Given the description of an element on the screen output the (x, y) to click on. 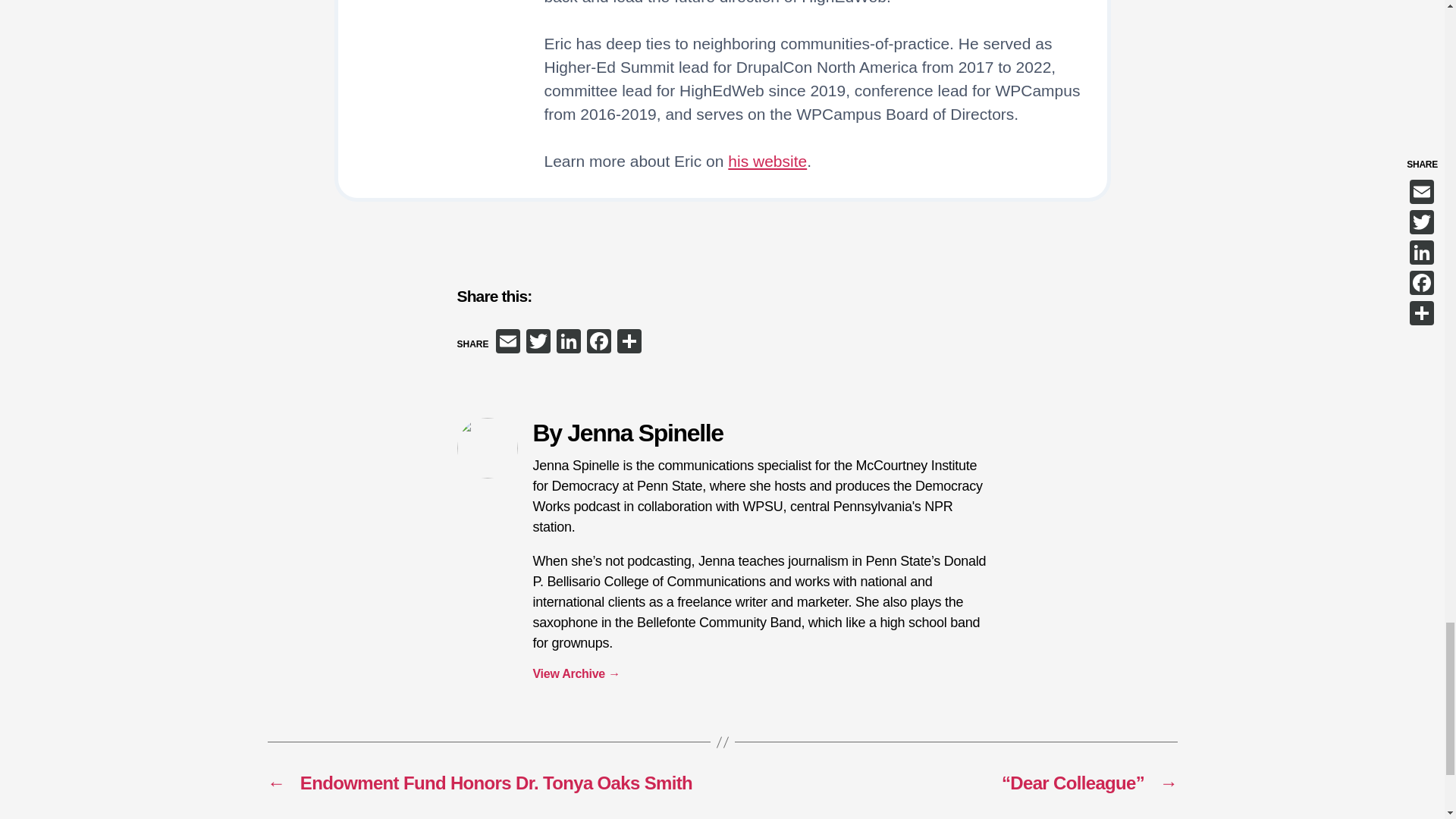
LinkedIn (568, 343)
Twitter (537, 343)
Email (507, 343)
Facebook (598, 343)
